Given the description of an element on the screen output the (x, y) to click on. 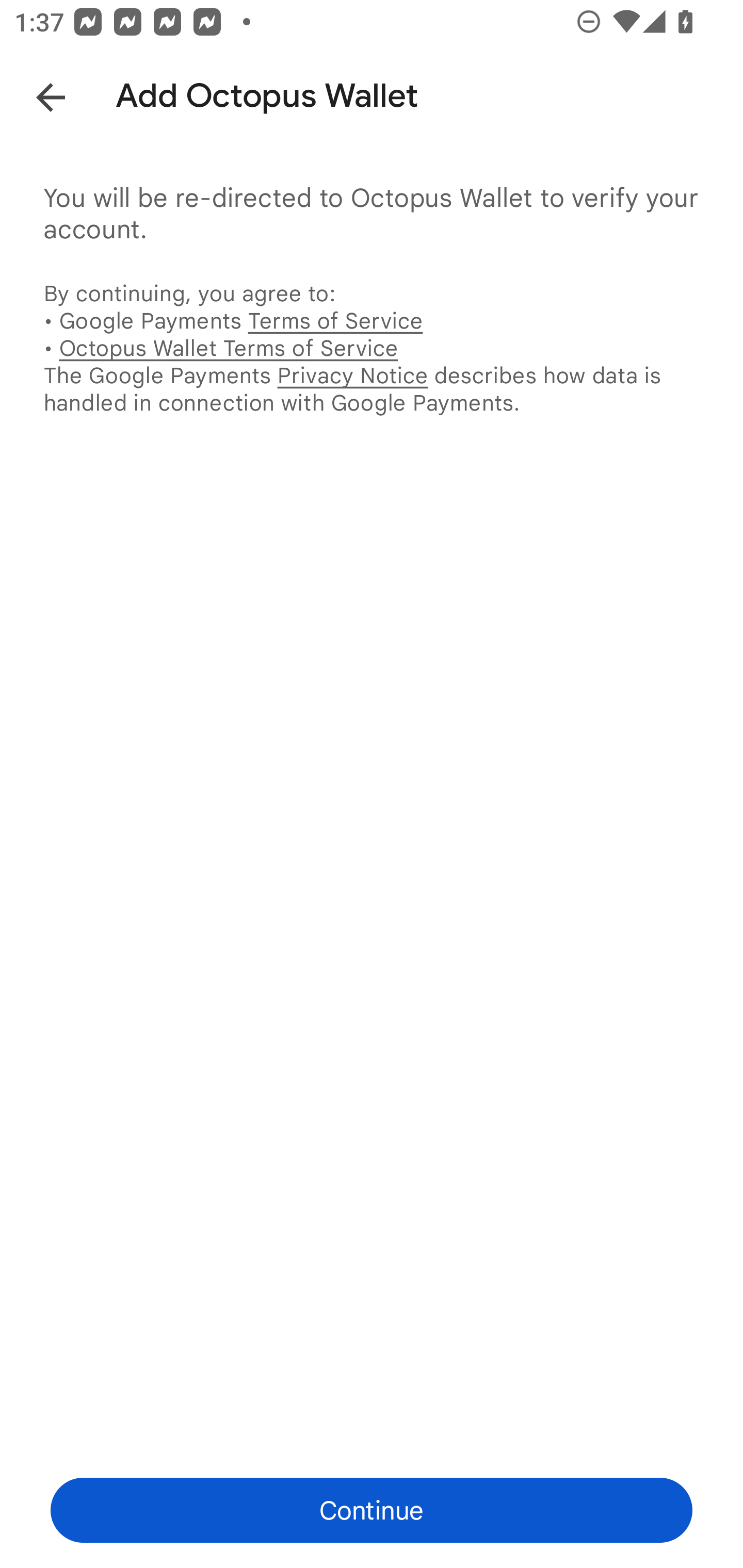
Back (36, 94)
Terms of Service (334, 320)
Octopus Wallet Terms of Service (227, 347)
Privacy Notice (352, 375)
Continue (371, 1510)
